Given the description of an element on the screen output the (x, y) to click on. 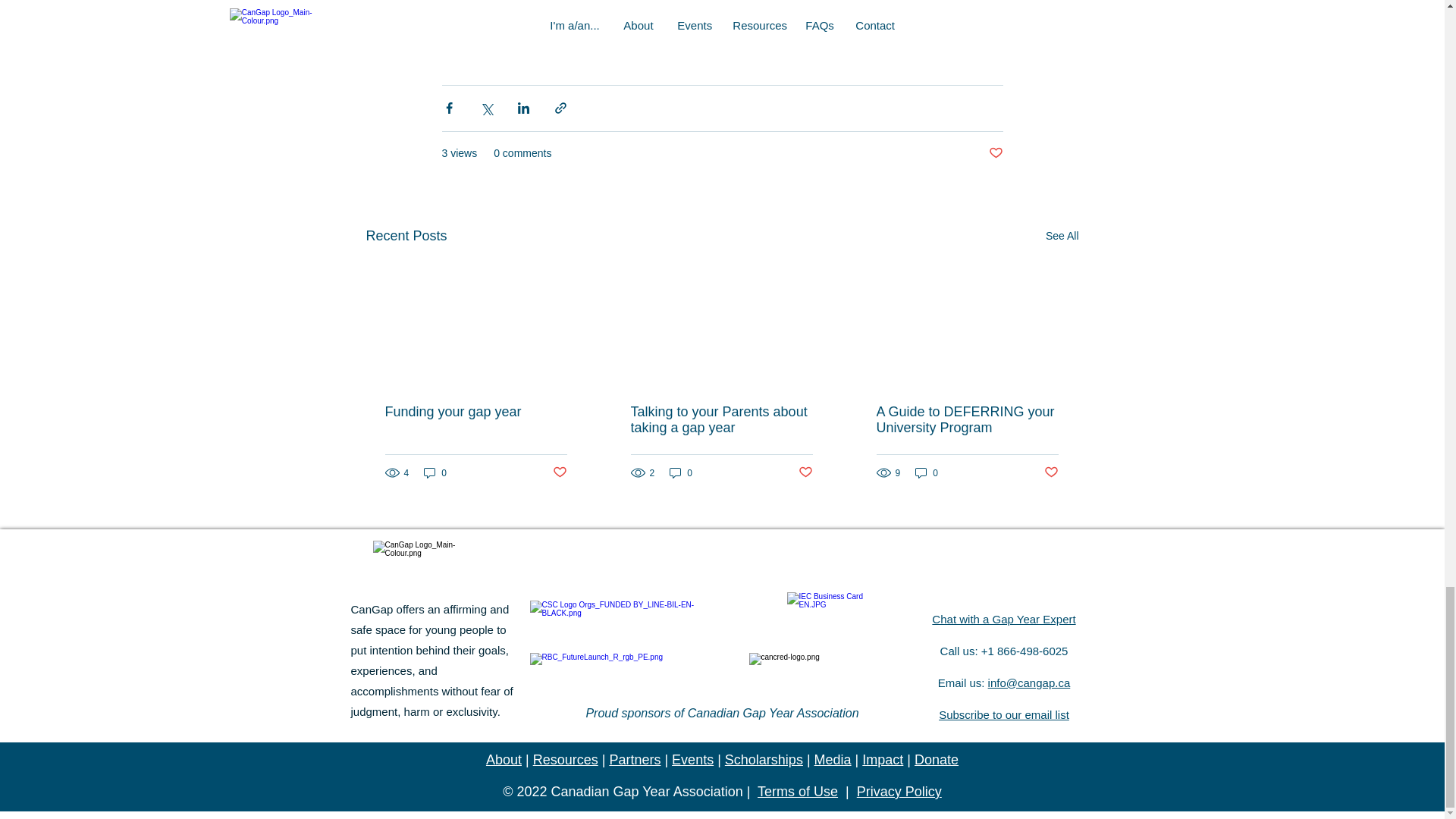
Post not marked as liked (804, 472)
Post not marked as liked (558, 472)
Talking to your Parents about taking a gap year (721, 419)
0 (681, 472)
0 (435, 472)
See All (1061, 236)
Post not marked as liked (995, 153)
Funding your gap year (476, 412)
